Given the description of an element on the screen output the (x, y) to click on. 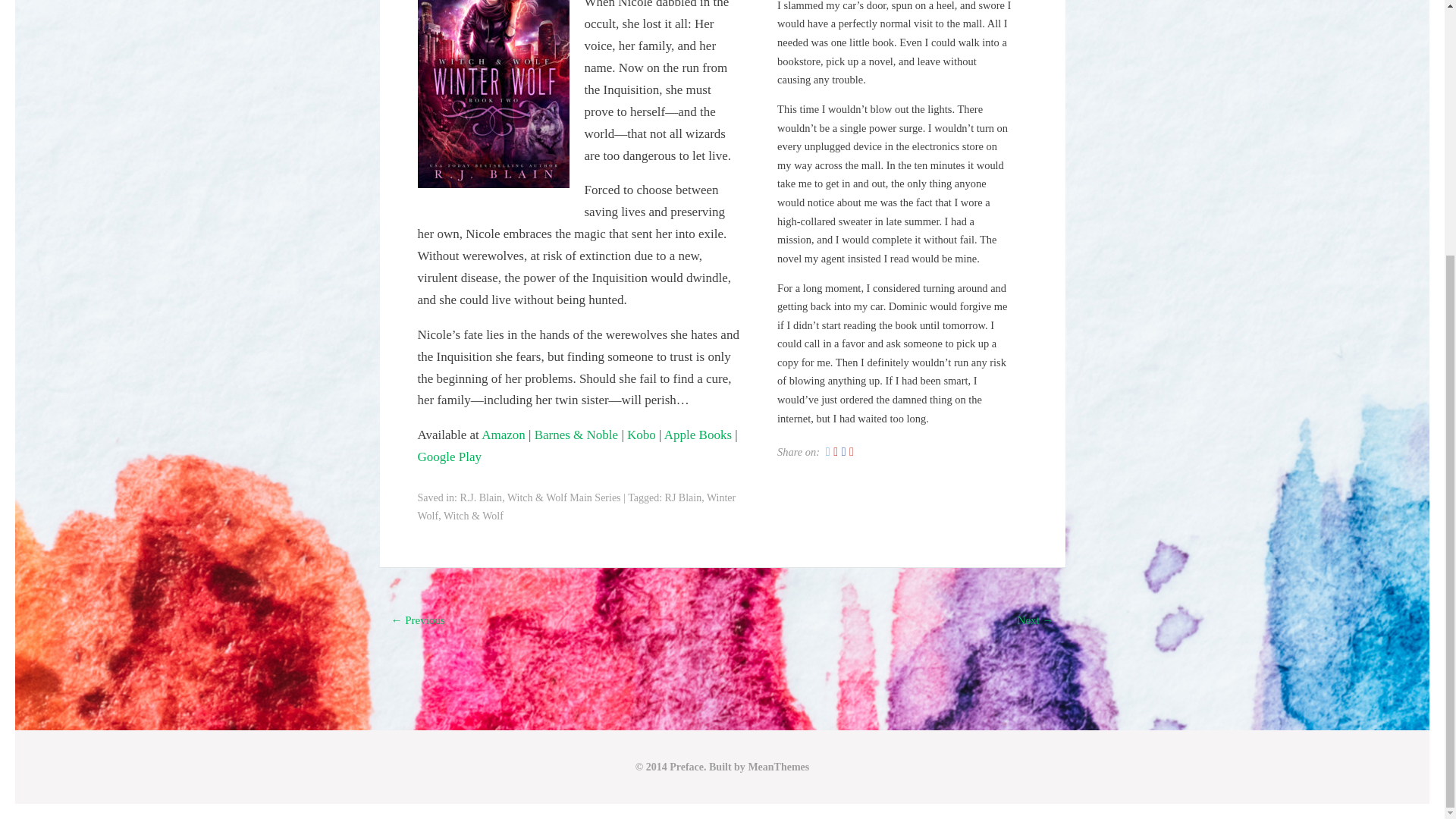
Amazon (503, 434)
MeanThemes (778, 767)
RJ Blain (683, 497)
Google Play (448, 456)
Kobo (641, 434)
Winter Wolf (575, 506)
Apple Books (697, 434)
R.J. Blain (481, 497)
